Given the description of an element on the screen output the (x, y) to click on. 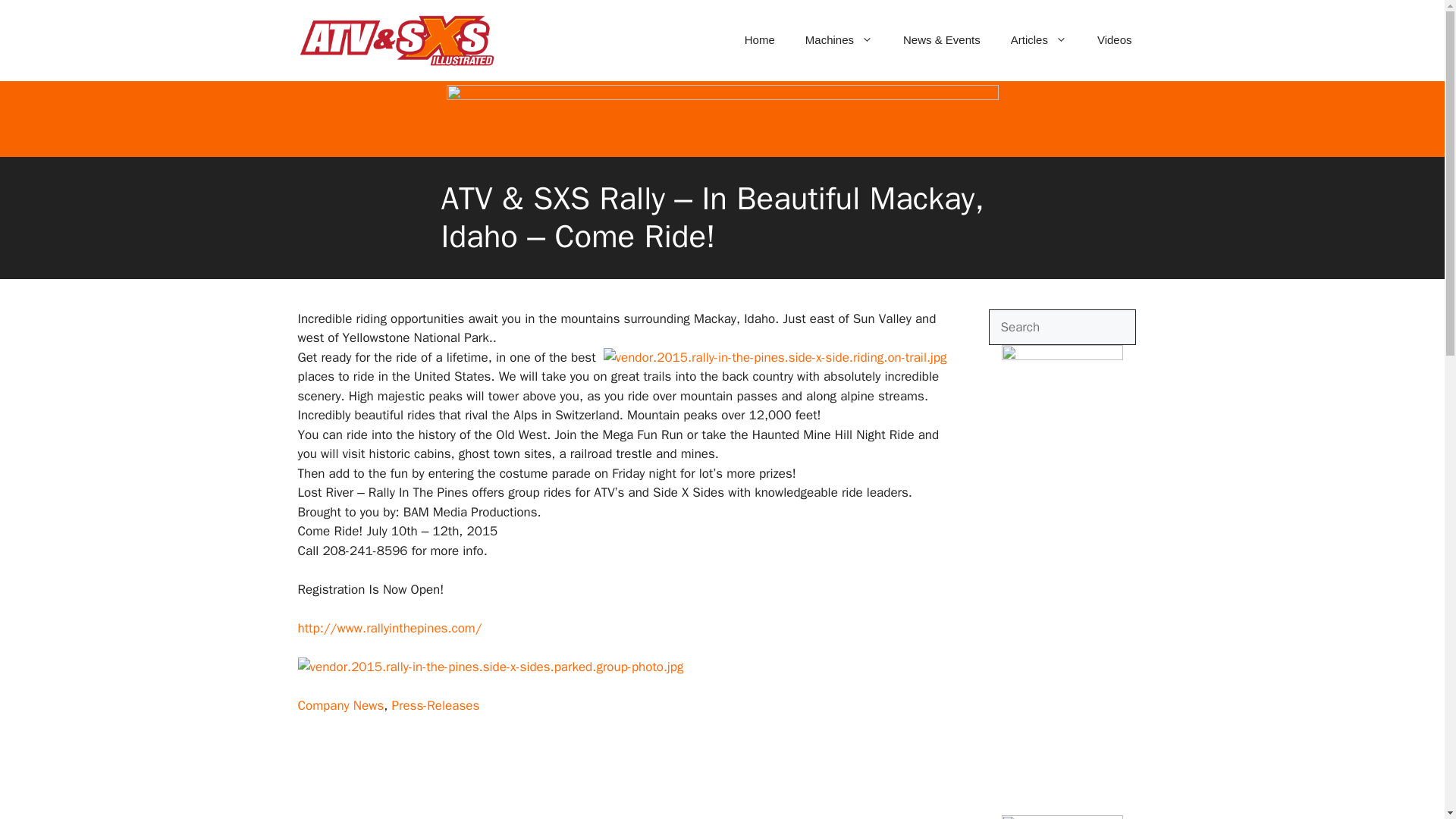
Company News (340, 705)
Videos (1114, 40)
Home (759, 40)
Machines (839, 40)
Press-Releases (435, 705)
Articles (1038, 40)
